Given the description of an element on the screen output the (x, y) to click on. 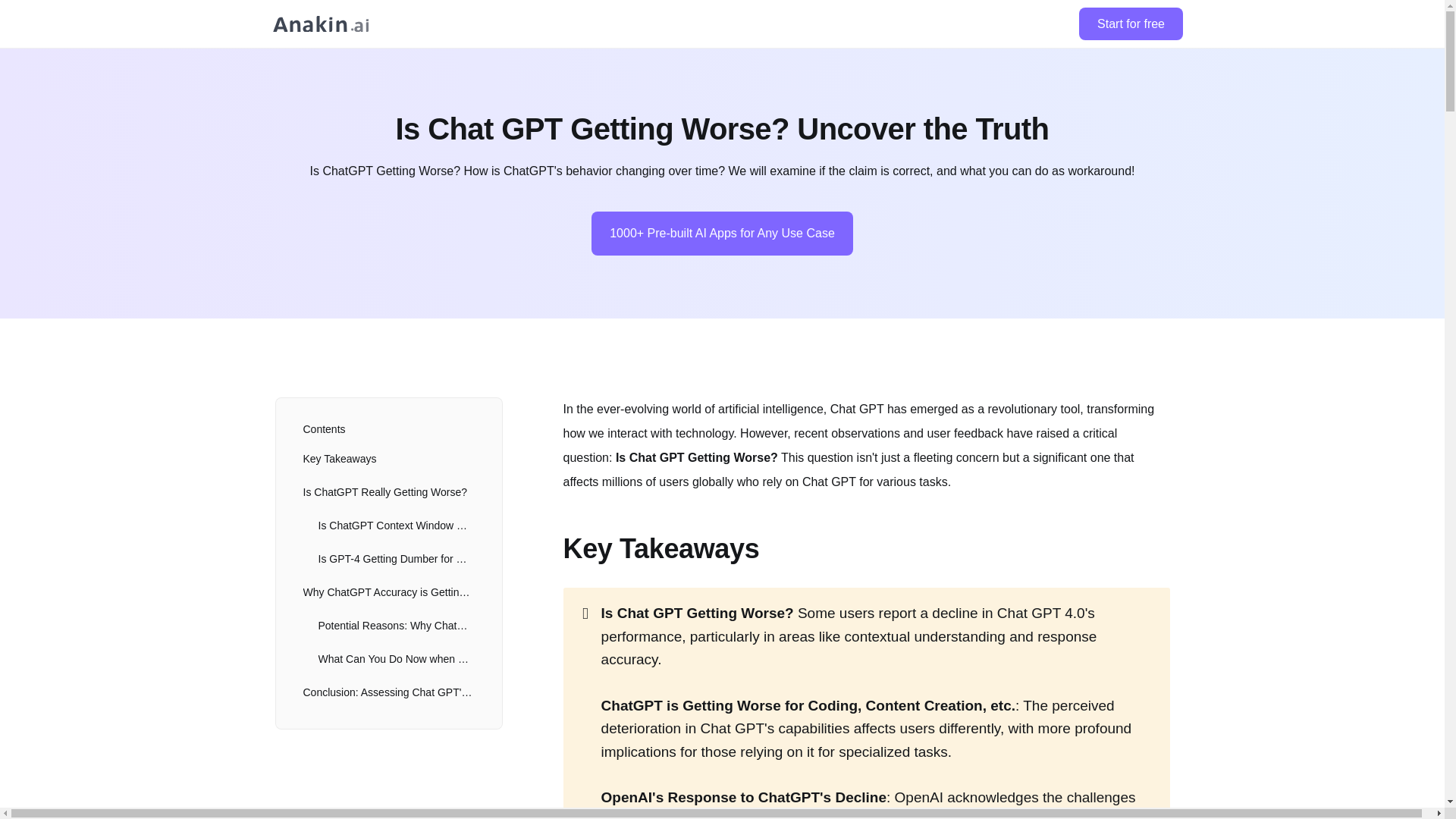
Is ChatGPT Context Window Getting Shorter? (388, 525)
Conclusion: Assessing Chat GPT's Journey and Future (388, 692)
Key Takeaways (388, 458)
Why ChatGPT Accuracy is Getting Worse? (388, 592)
Start for free (1130, 23)
Potential Reasons: Why ChatGPT is Worse Than It Used to Be (388, 625)
Is GPT-4 Getting Dumber for Coding? (388, 558)
Is ChatGPT Really Getting Worse? (388, 491)
What Can You Do Now when ChatGPT is Getting Worse (388, 658)
